Given the description of an element on the screen output the (x, y) to click on. 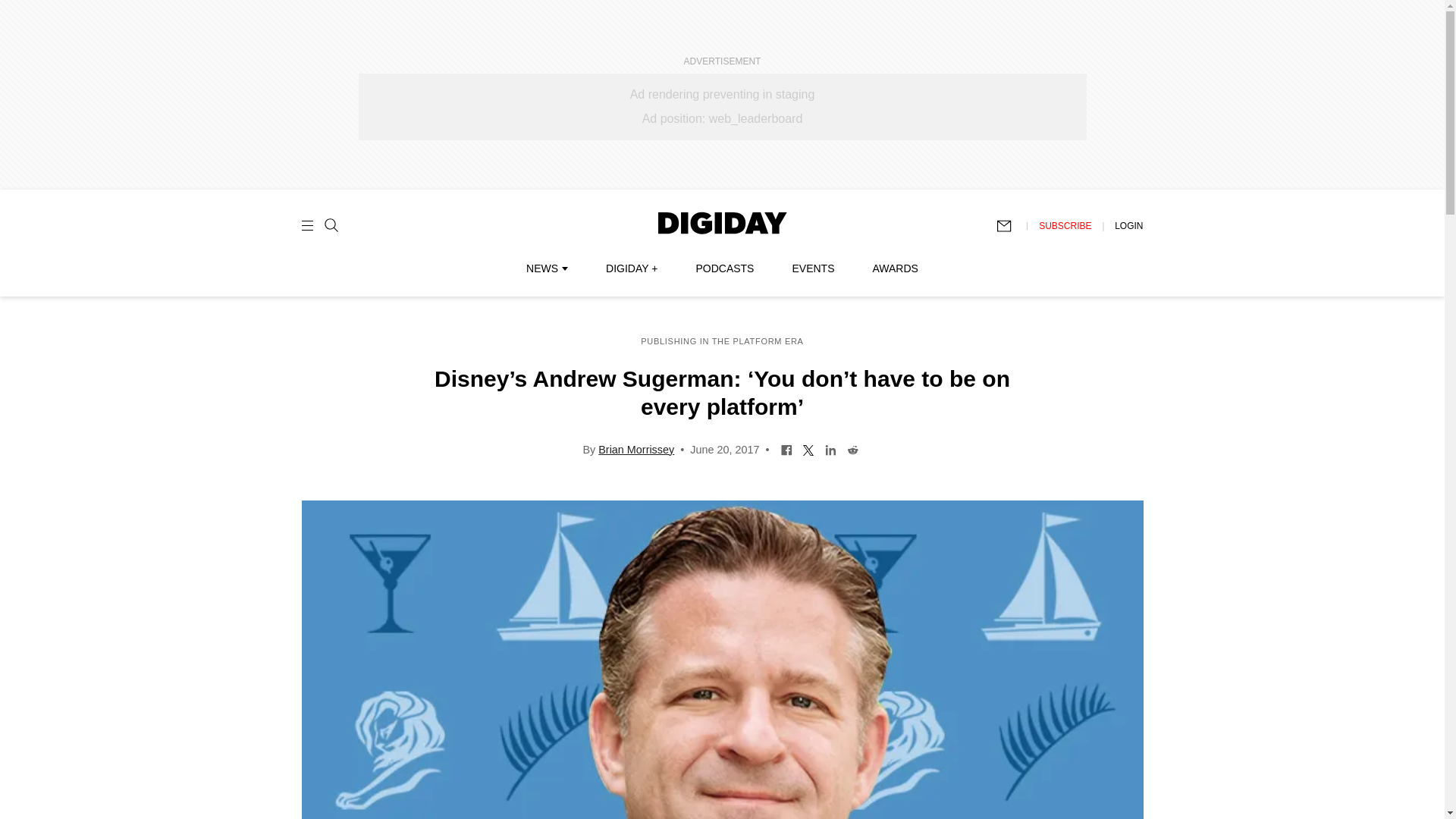
LOGIN (1128, 225)
Share on Facebook (786, 449)
EVENTS (813, 267)
NEWS (546, 267)
Share on Twitter (808, 449)
SUBSCRIBE (1064, 225)
PODCASTS (725, 267)
Subscribe (1010, 225)
AWARDS (894, 267)
Share on LinkedIn (830, 449)
Share on Reddit (852, 449)
